Given the description of an element on the screen output the (x, y) to click on. 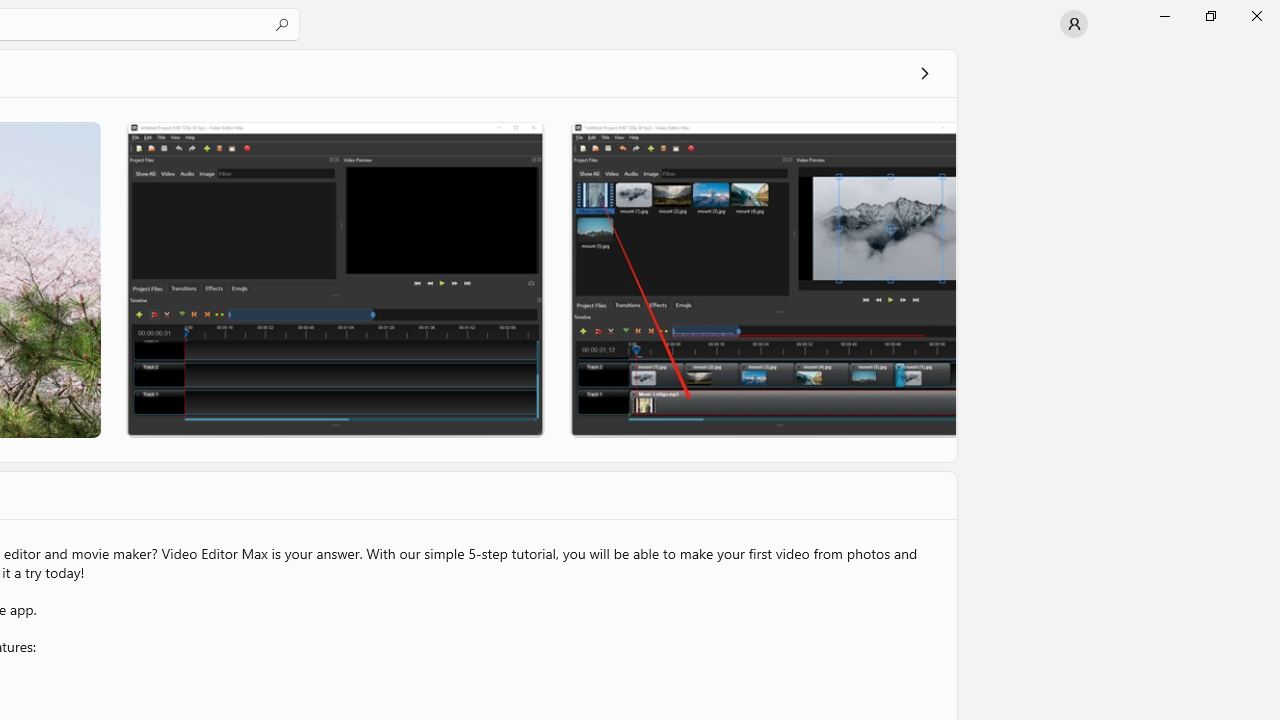
Minimize Microsoft Store (1164, 15)
Screenshot 2 (334, 279)
Close Microsoft Store (1256, 15)
User profile (1073, 24)
Screenshot 3 (762, 279)
See all (924, 72)
Restore Microsoft Store (1210, 15)
